Given the description of an element on the screen output the (x, y) to click on. 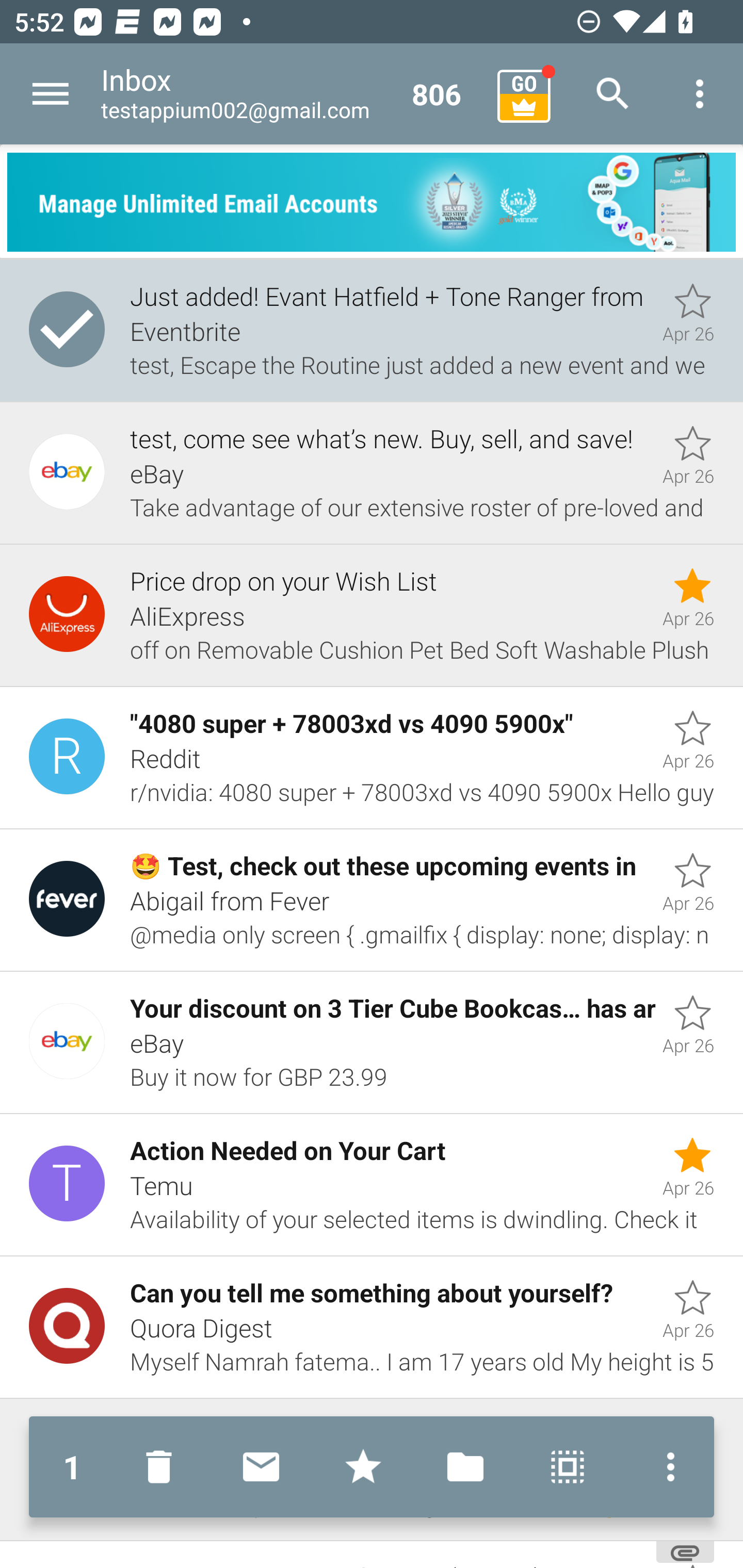
Navigate up (50, 93)
Inbox testappium002@gmail.com 806 (291, 93)
Search (612, 93)
More options (699, 93)
1 1 message (71, 1466)
Move to Deleted (162, 1466)
Mark unread (261, 1466)
Mark with stars (363, 1466)
Move to folder… (465, 1466)
Select all (567, 1466)
More options (666, 1466)
